Given the description of an element on the screen output the (x, y) to click on. 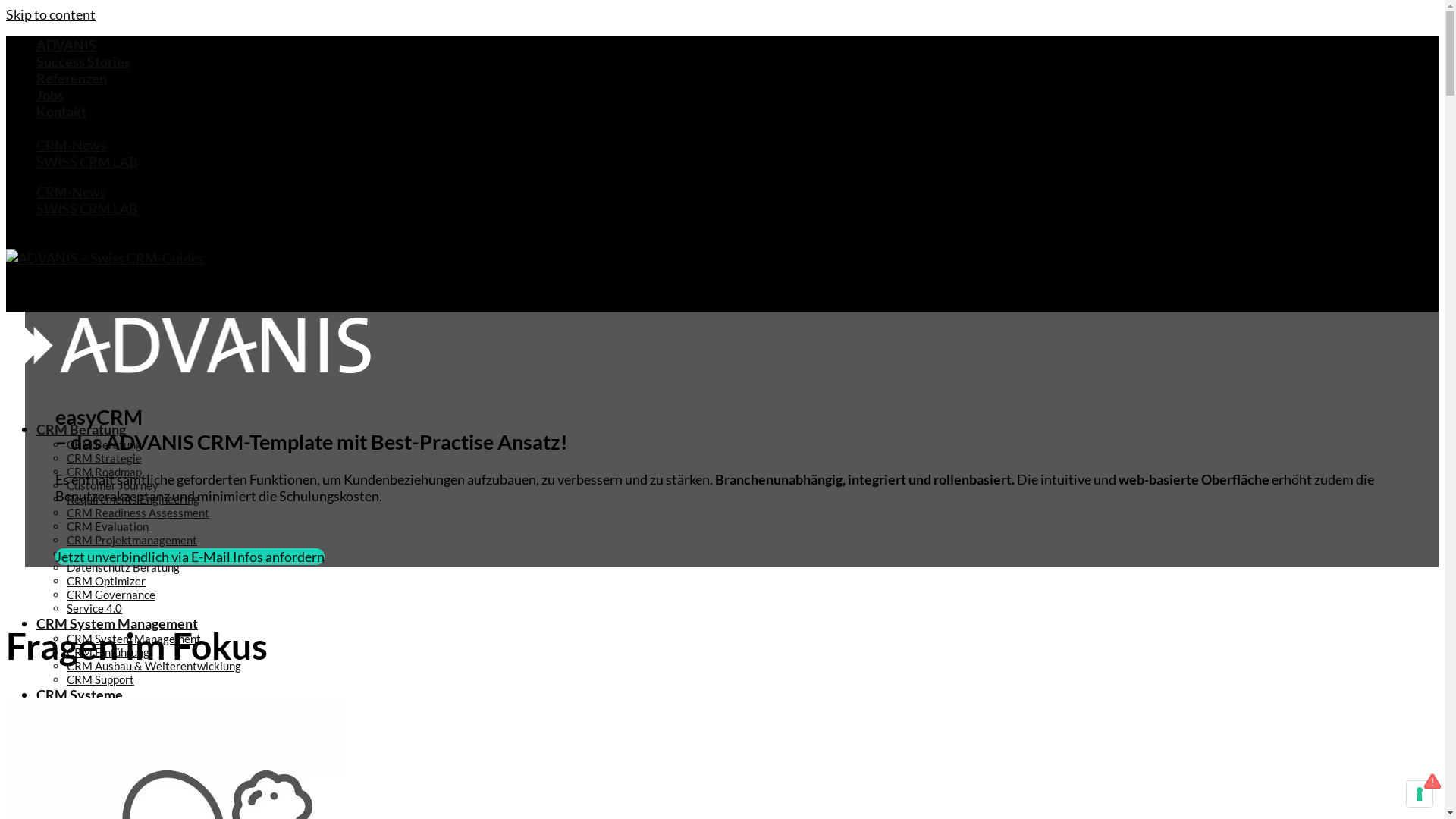
CRM Projektmanagement Element type: text (131, 539)
ADVANIS Element type: text (66, 44)
Salesforce Account Engagement Element type: text (177, 764)
Salesforce-SAP-Integration Element type: text (165, 777)
CRM Readiness Assessment Element type: text (137, 512)
Jobs Element type: text (49, 94)
Salesforce Element type: text (92, 709)
Requirements Engineering Element type: text (132, 498)
CRM Systeme Element type: text (79, 694)
Customer Journey Element type: text (112, 485)
SWISS CRM LAB Element type: text (87, 161)
Success Stories Element type: text (83, 61)
Salesforce Sales Cloud Element type: text (153, 723)
Service 4.0 Element type: text (94, 608)
CRM System Management Element type: text (116, 623)
Kontakt Element type: text (61, 111)
Referenzen Element type: text (71, 77)
CRM-News Element type: text (71, 144)
Jetzt unverbindlich via E-Mail Infos anfordern Element type: text (189, 556)
CRM Strategie Element type: text (103, 457)
Microsoft Dynamics 365 Sales Element type: text (173, 805)
Skip to content Element type: text (50, 14)
CRM Support Element type: text (100, 679)
CRM Evaluation Element type: text (107, 526)
Salesforce Service Cloud Element type: text (158, 736)
CRM Beratung Element type: text (103, 444)
CRM Governance Element type: text (110, 594)
CRM Ausbau & Weiterentwicklung Element type: text (153, 665)
CRM System Management Element type: text (133, 638)
Salesforce Marketing Cloud Element type: text (166, 750)
Microsoft Dynamics 365 Element type: text (128, 791)
CRM Beratung Element type: text (80, 428)
CRM Roadmap Element type: text (103, 471)
CRM-News Element type: text (71, 191)
Datenschutz Beratung Element type: text (122, 567)
CRM Optimizer Element type: text (105, 580)
SWISS CRM LAB Element type: text (87, 208)
